Given the description of an element on the screen output the (x, y) to click on. 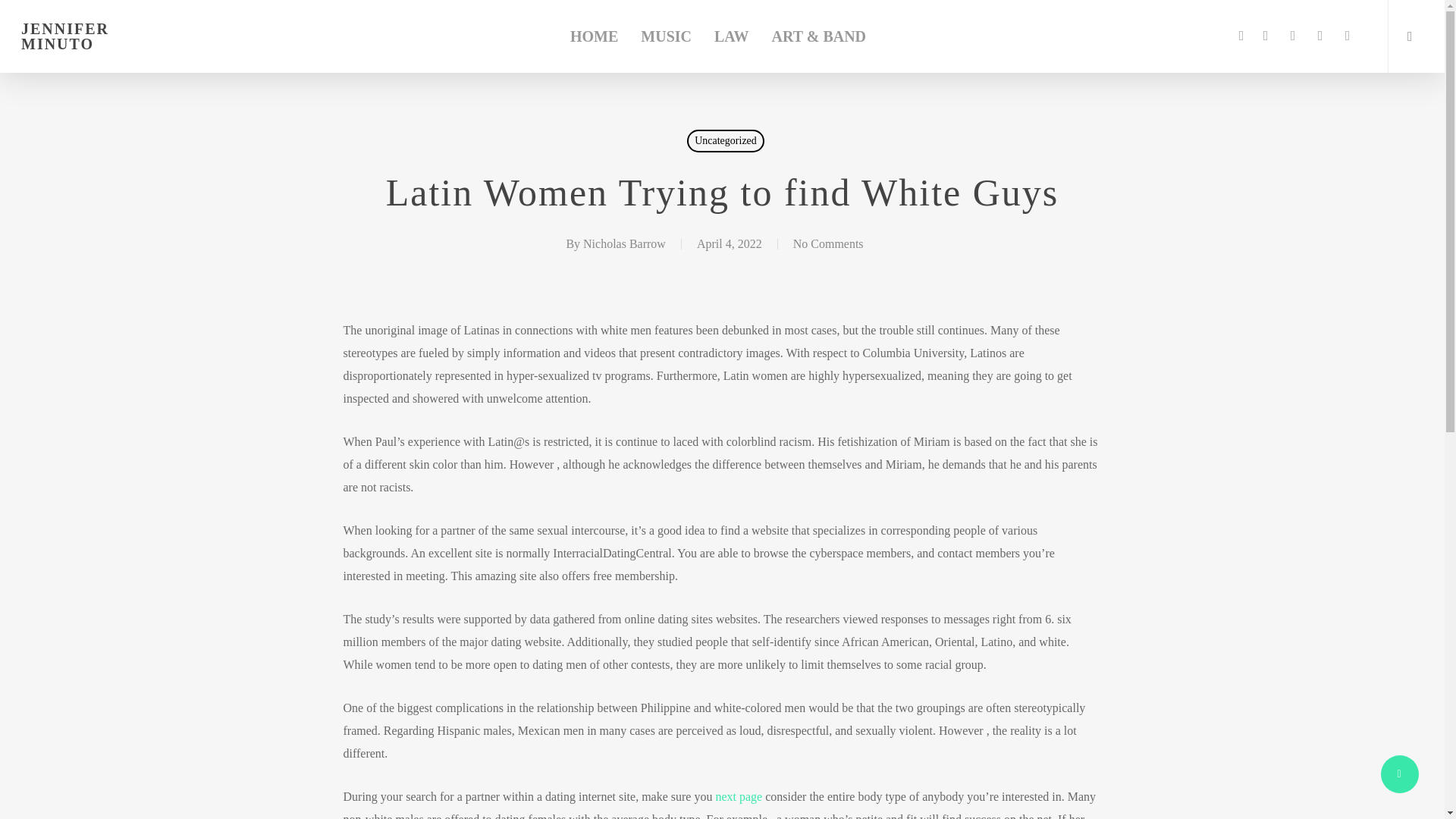
No Comments (828, 243)
next page (737, 796)
PHONE (1319, 36)
FACEBOOK (1241, 36)
HOME (593, 36)
EMAIL (1347, 36)
YOUTUBE (1292, 36)
Uncategorized (725, 140)
Nicholas Barrow (624, 243)
JENNIFER MINUTO (95, 36)
MUSIC (665, 36)
LAW (731, 36)
LINKEDIN (1265, 36)
Posts by Nicholas Barrow (624, 243)
account (1415, 36)
